Given the description of an element on the screen output the (x, y) to click on. 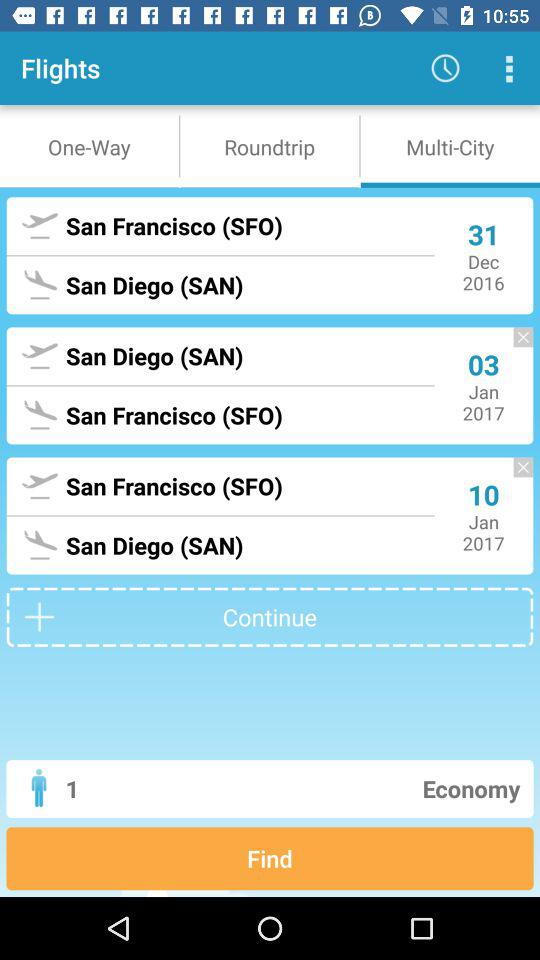
click to more option (508, 67)
